Given the description of an element on the screen output the (x, y) to click on. 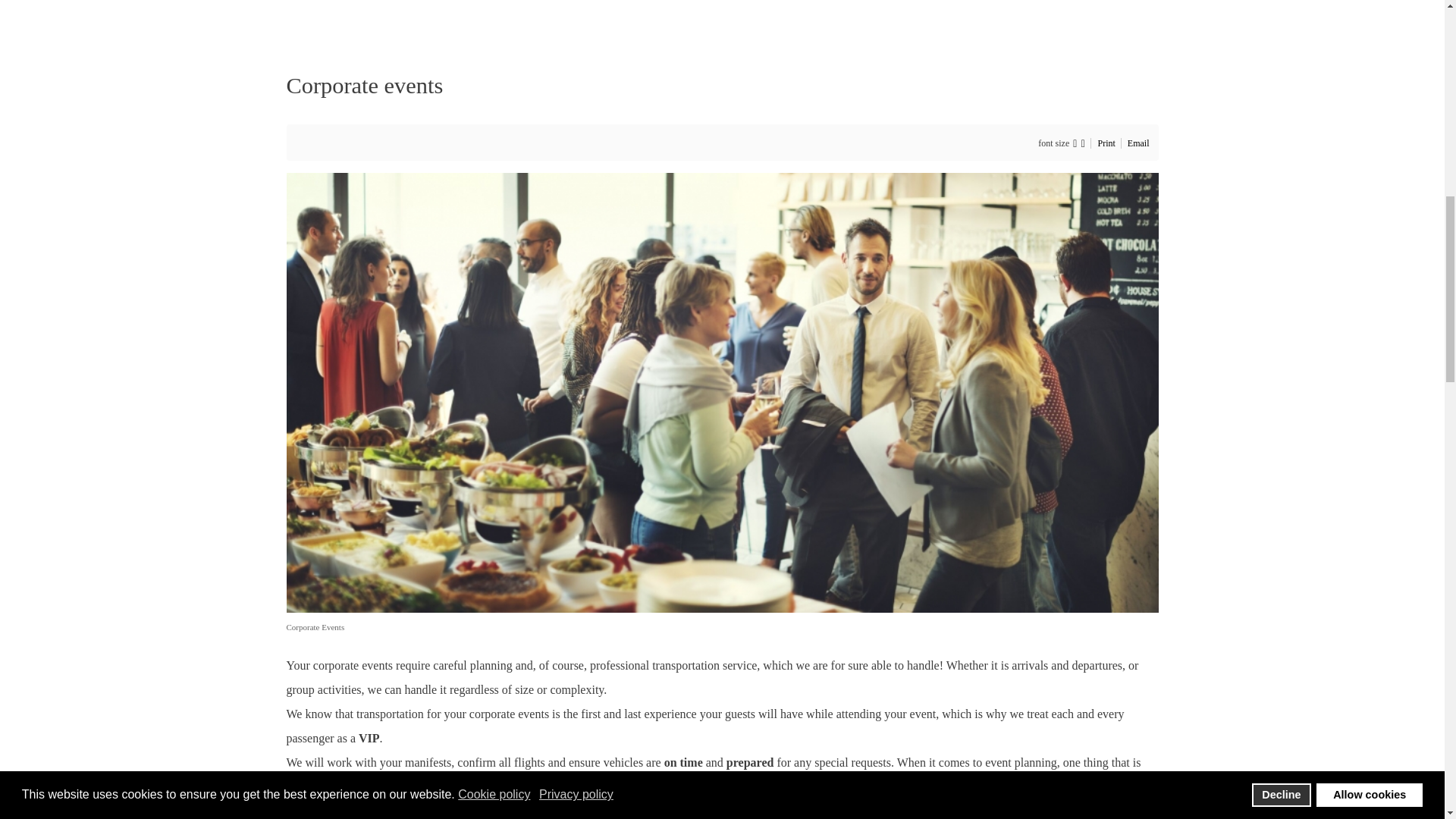
Click to preview image (722, 391)
Send (804, 296)
Print (1106, 143)
Email (1138, 143)
